Given the description of an element on the screen output the (x, y) to click on. 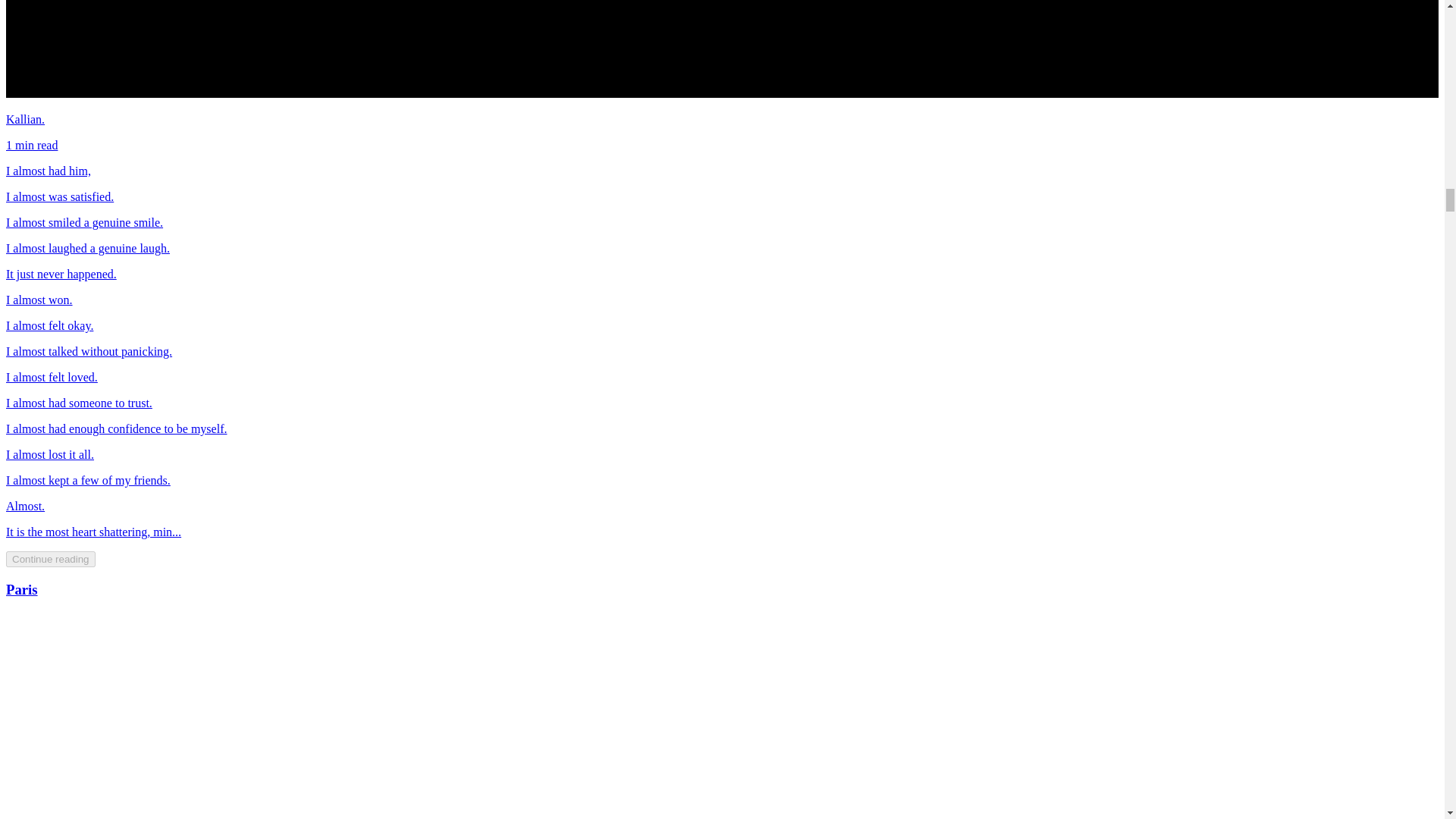
Continue reading (50, 558)
Continue reading (50, 559)
